Given the description of an element on the screen output the (x, y) to click on. 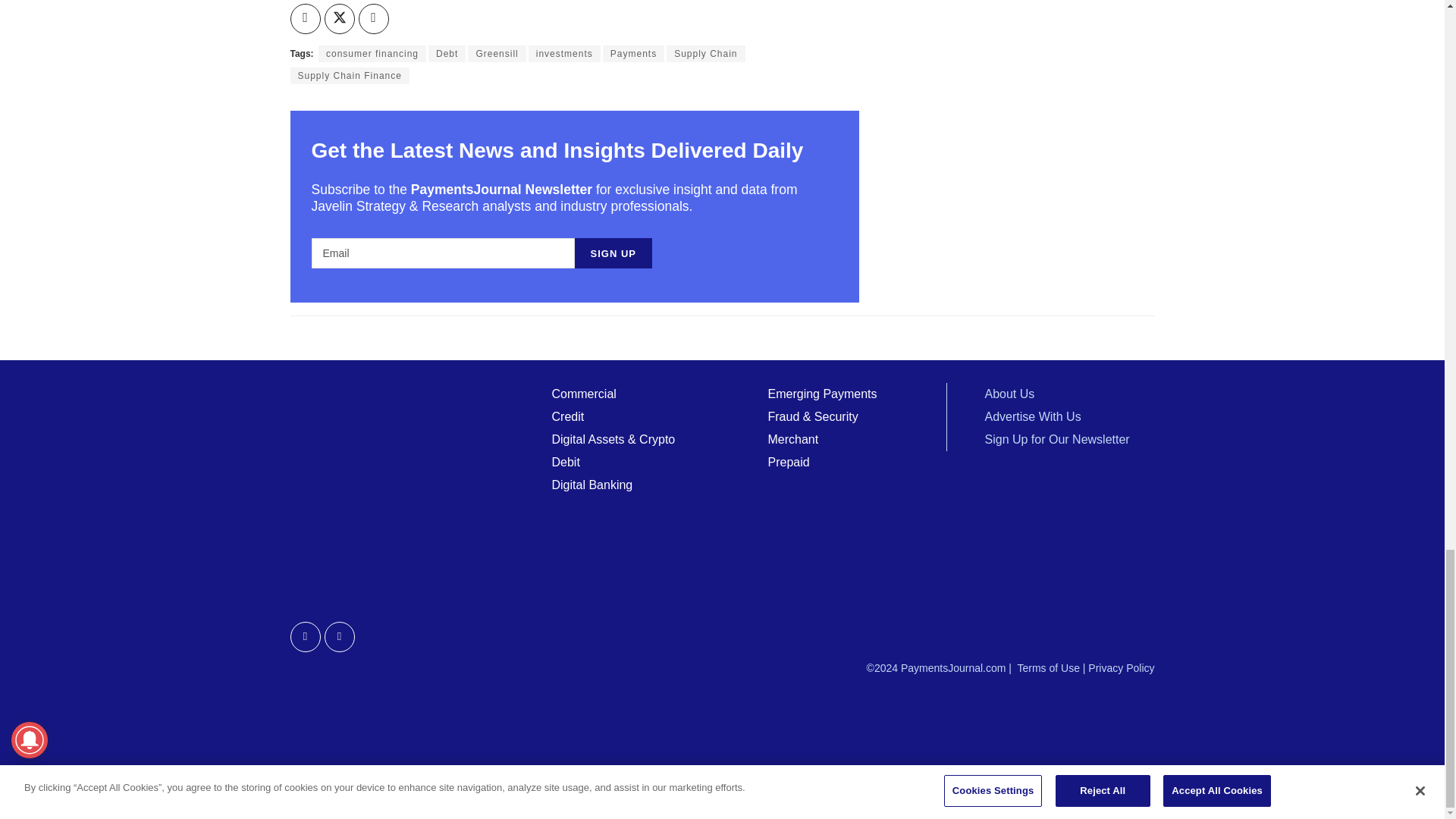
Sign Up (613, 253)
Email (442, 253)
